Given the description of an element on the screen output the (x, y) to click on. 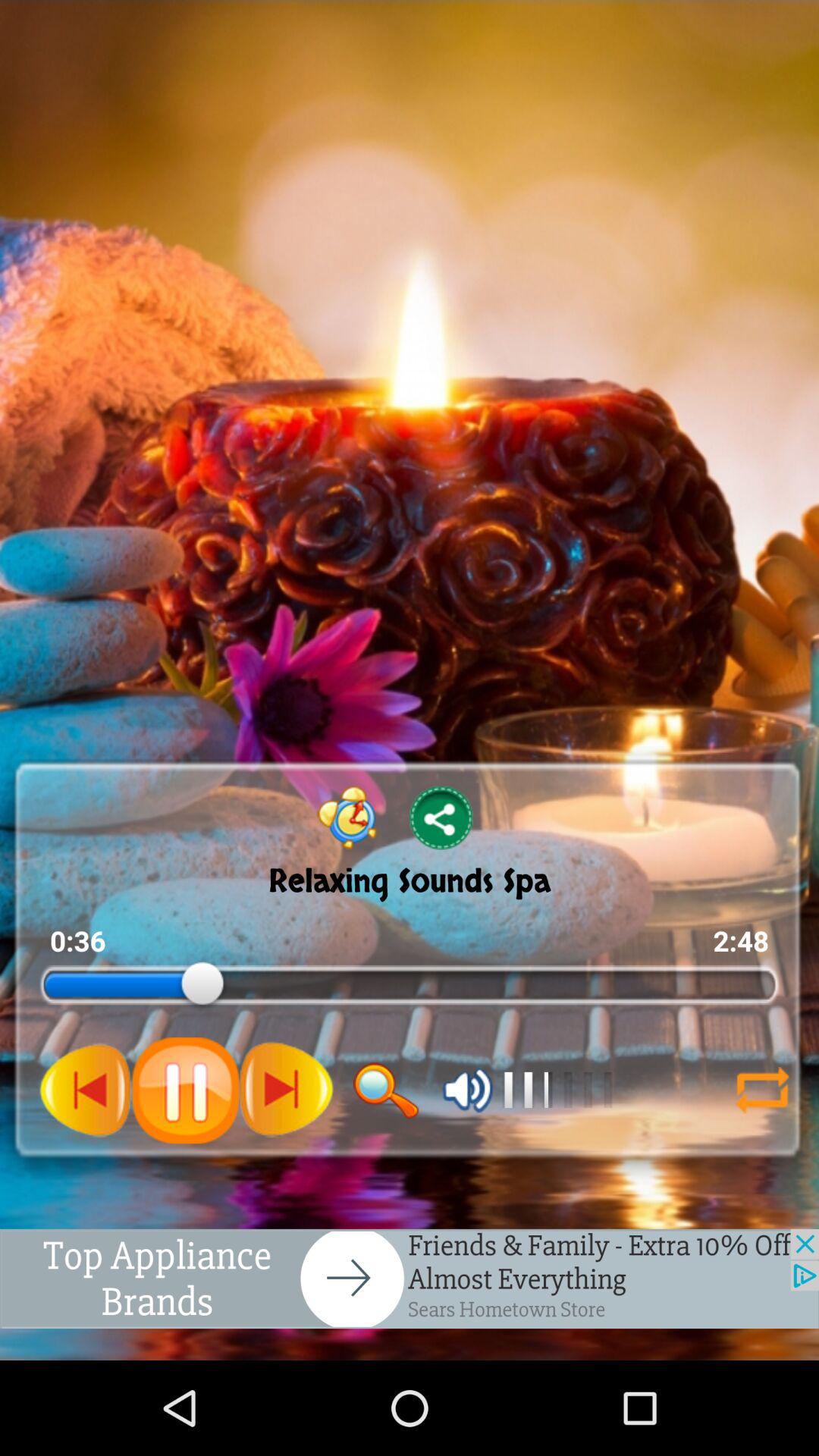
go to next (285, 1090)
